Given the description of an element on the screen output the (x, y) to click on. 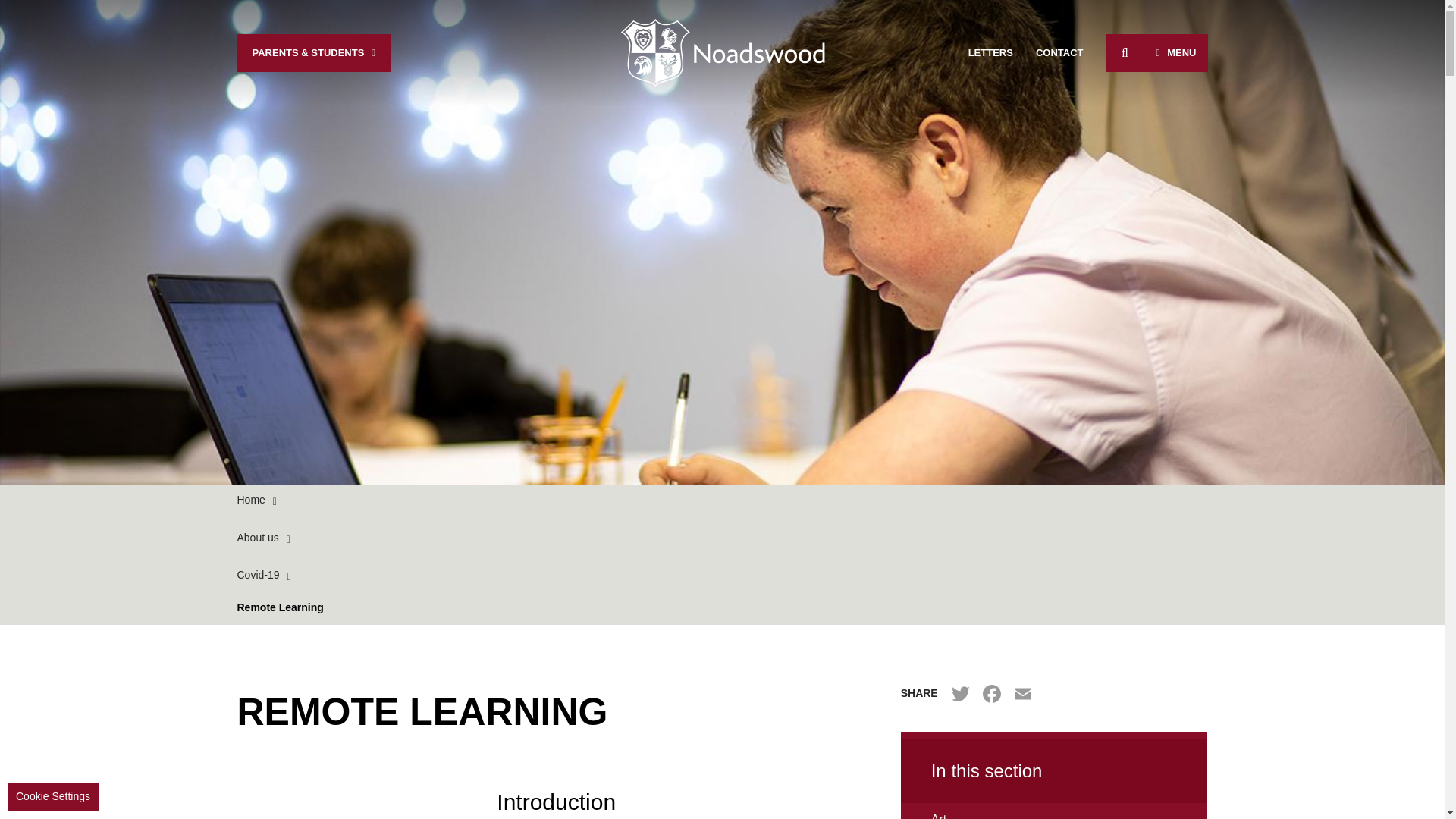
Search (1123, 53)
Enter the terms you wish to search for. (1118, 53)
